Given the description of an element on the screen output the (x, y) to click on. 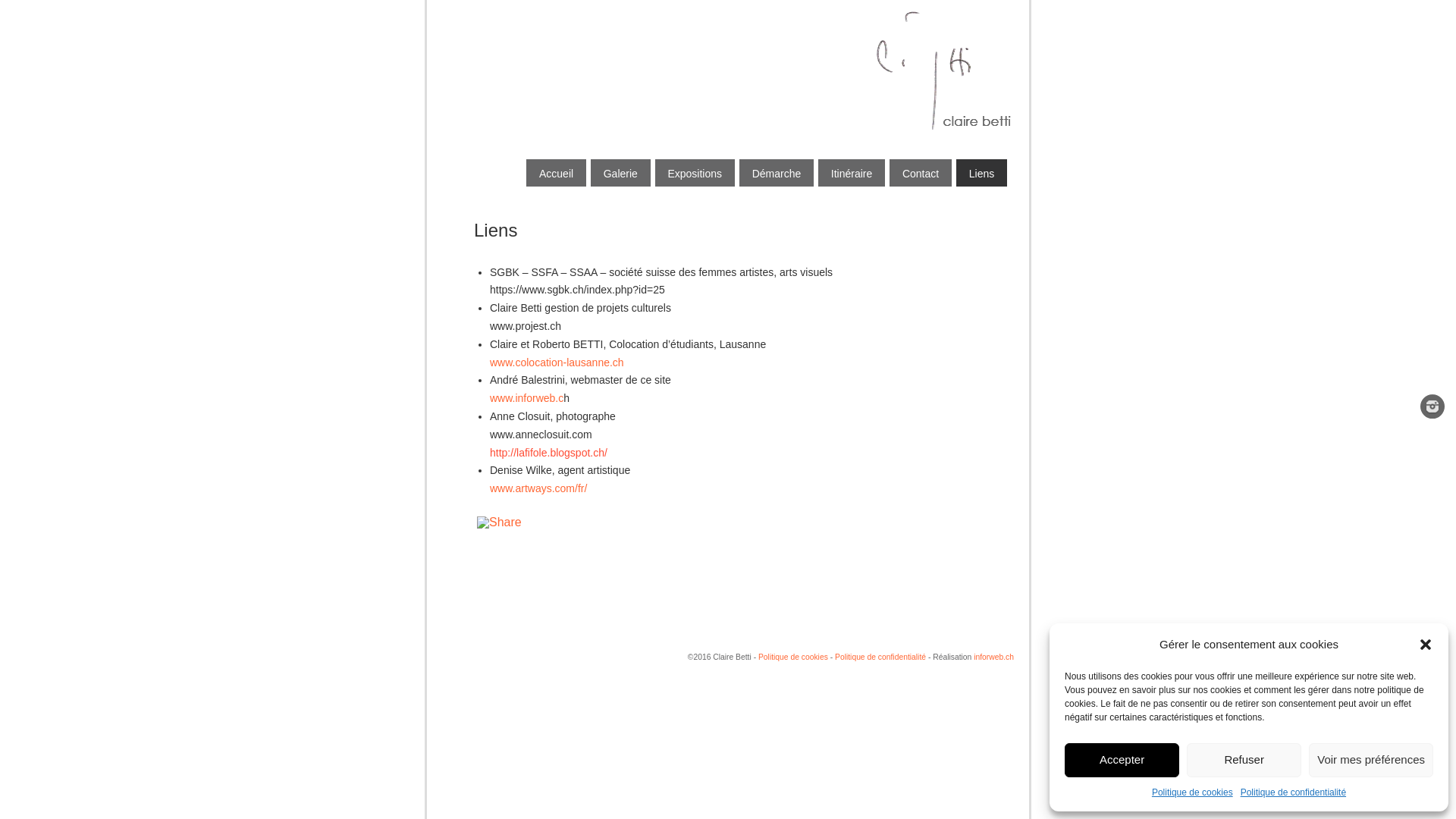
Accueil Element type: text (556, 172)
www.artways.com/fr/ Element type: text (537, 488)
Liens Element type: text (981, 172)
http://lafifole.blogspot.ch/ Element type: text (548, 452)
Expositions Element type: text (694, 172)
www.inforweb.c Element type: text (526, 398)
Refuser Element type: text (1243, 760)
Galerie Element type: text (620, 172)
Instagram Element type: hover (1432, 409)
www.colocation-lausanne.ch Element type: text (556, 362)
Accepter Element type: text (1121, 760)
inforweb.ch Element type: text (993, 656)
Politique de cookies Element type: text (794, 656)
Politique de cookies Element type: text (1192, 792)
Contact Element type: text (920, 172)
